Given the description of an element on the screen output the (x, y) to click on. 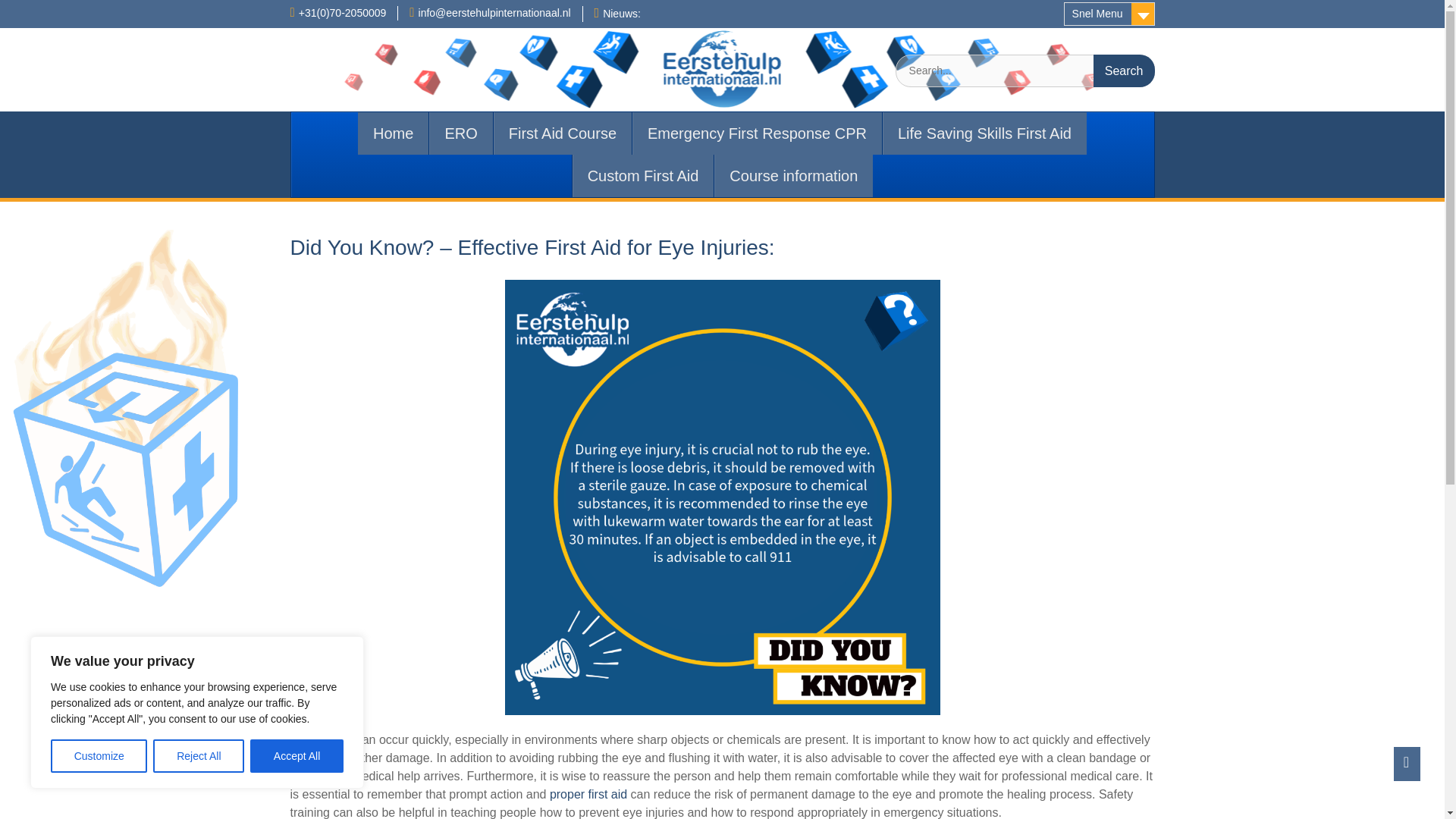
ERO (460, 133)
Search for: (1024, 70)
Search (1123, 70)
Search (1123, 70)
Snel Menu (1109, 13)
First Aid Course (562, 133)
Accept All (296, 756)
Customize (98, 756)
Reject All (198, 756)
Search (1123, 70)
Home (393, 133)
